Given the description of an element on the screen output the (x, y) to click on. 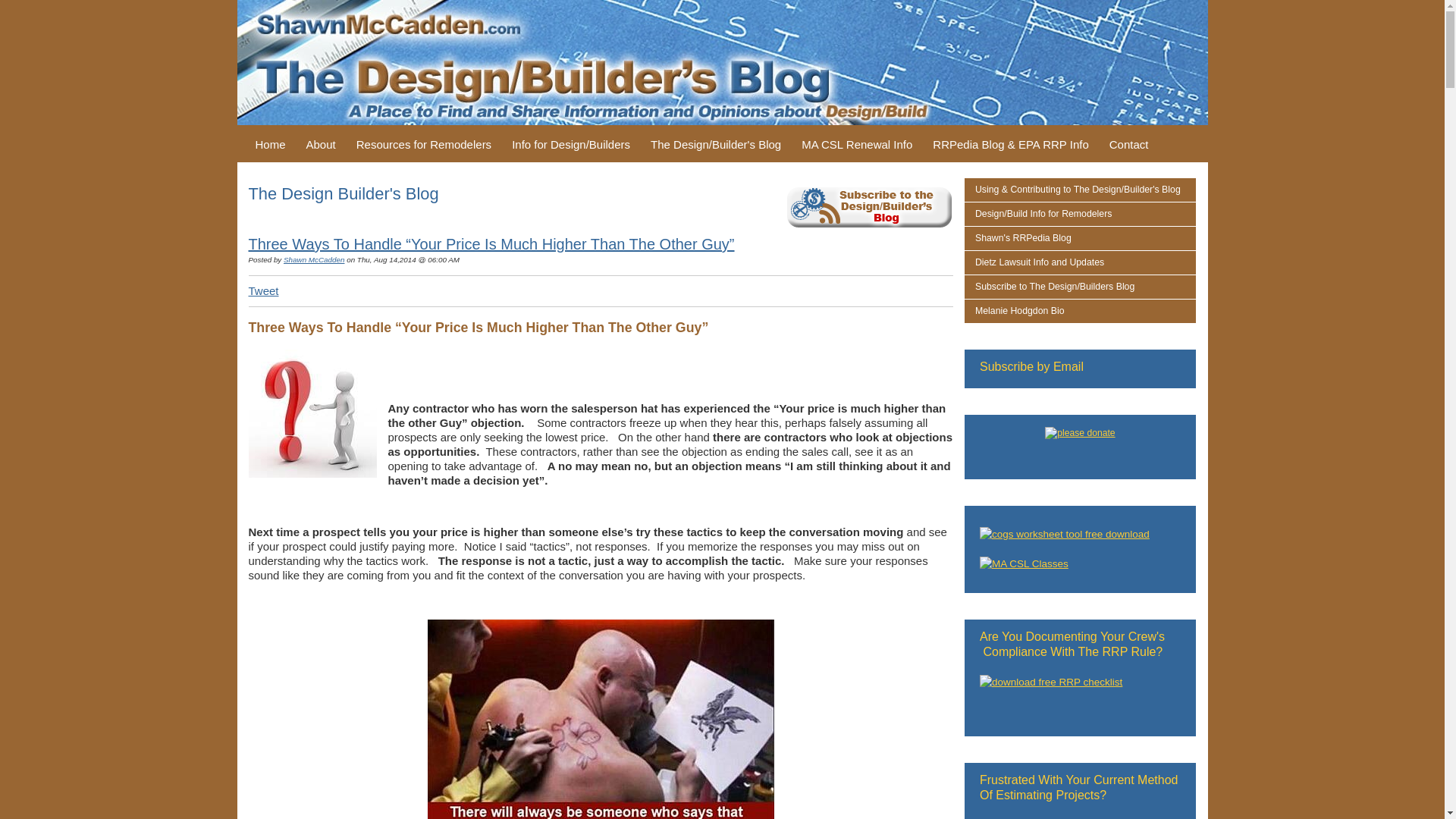
Resources for Remodelers (423, 144)
Home (270, 144)
About (321, 144)
the design builders blog (721, 62)
MA CSL Renewal Info (856, 144)
